Given the description of an element on the screen output the (x, y) to click on. 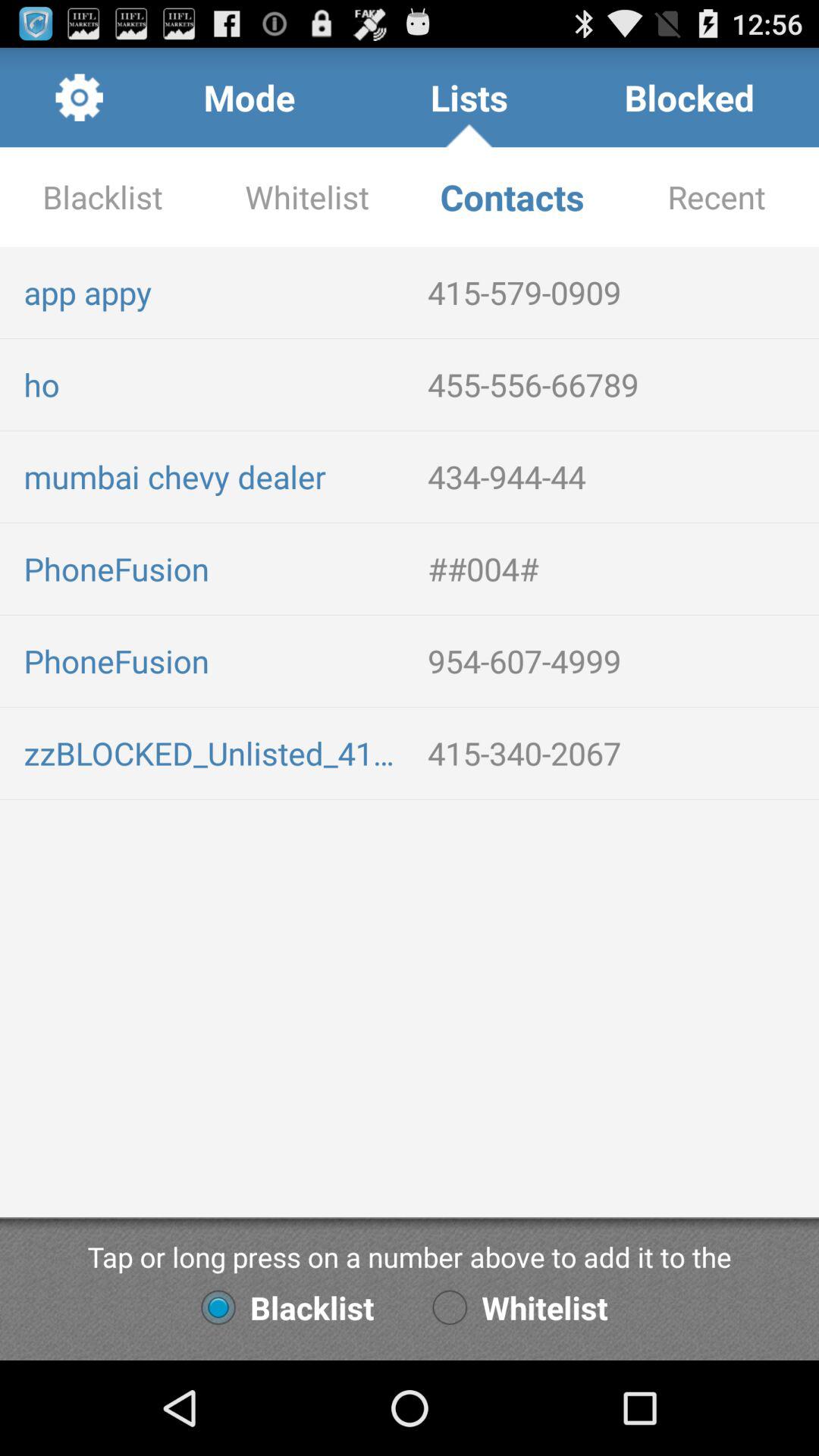
launch recent app (716, 196)
